Given the description of an element on the screen output the (x, y) to click on. 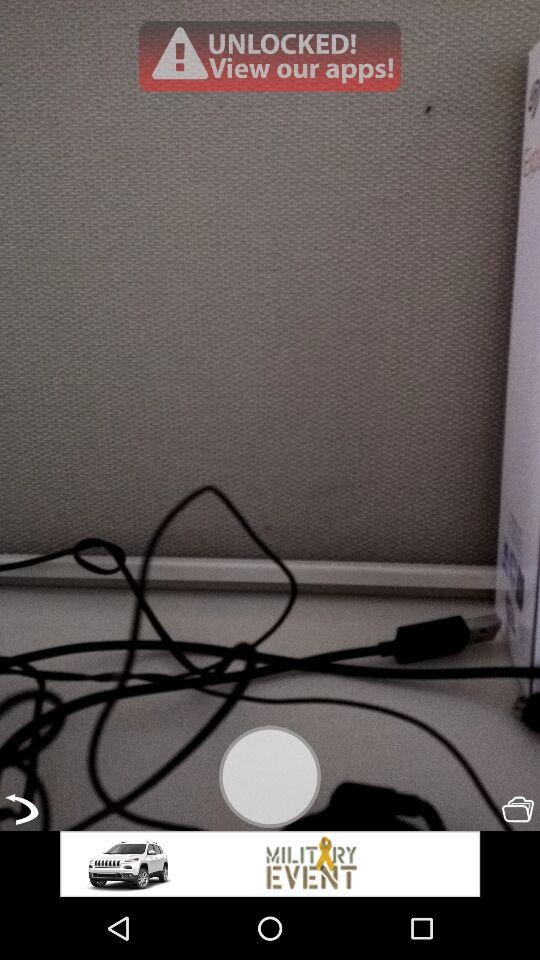
go back (21, 809)
